Given the description of an element on the screen output the (x, y) to click on. 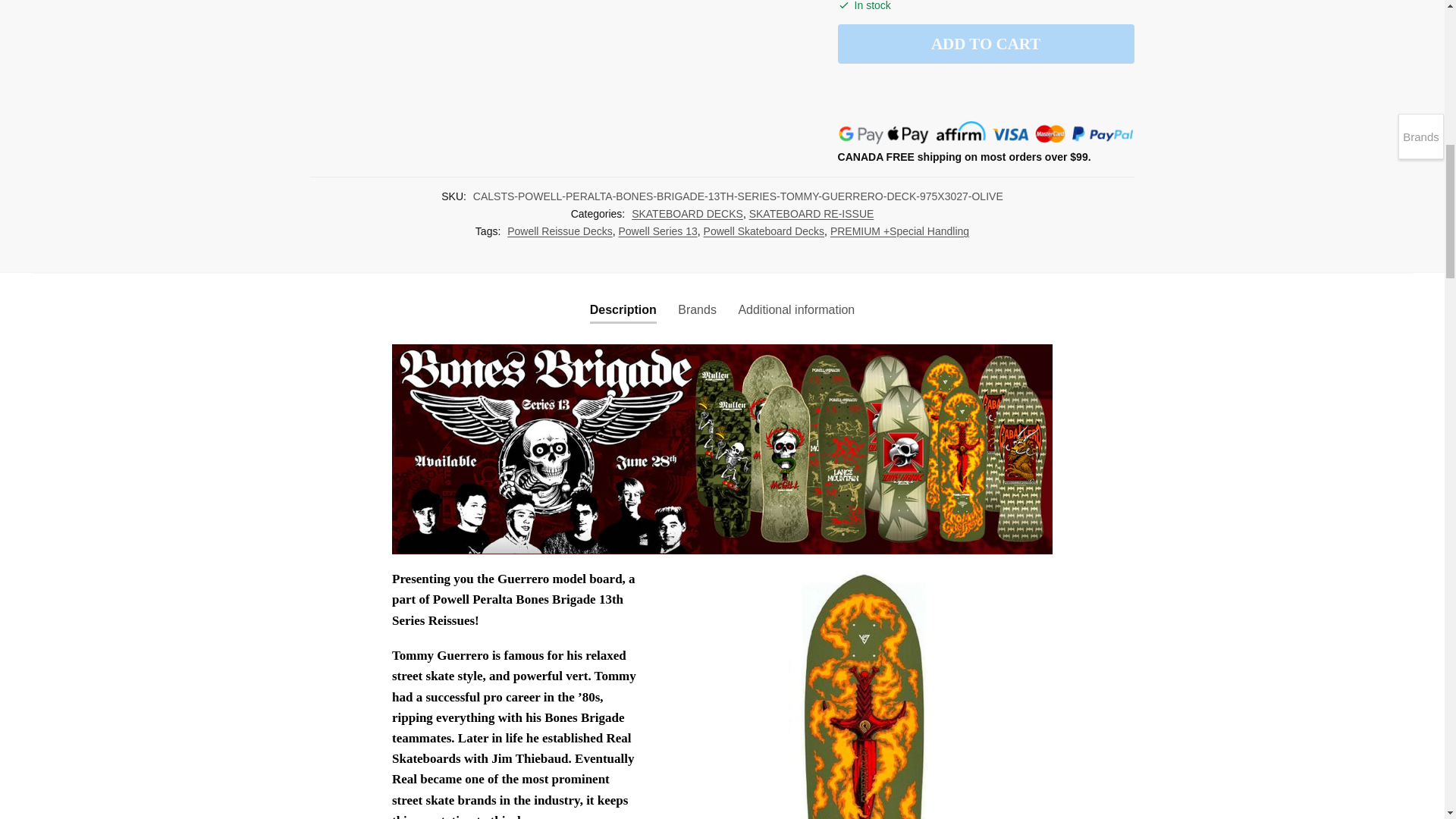
PayPal (986, 92)
